Given the description of an element on the screen output the (x, y) to click on. 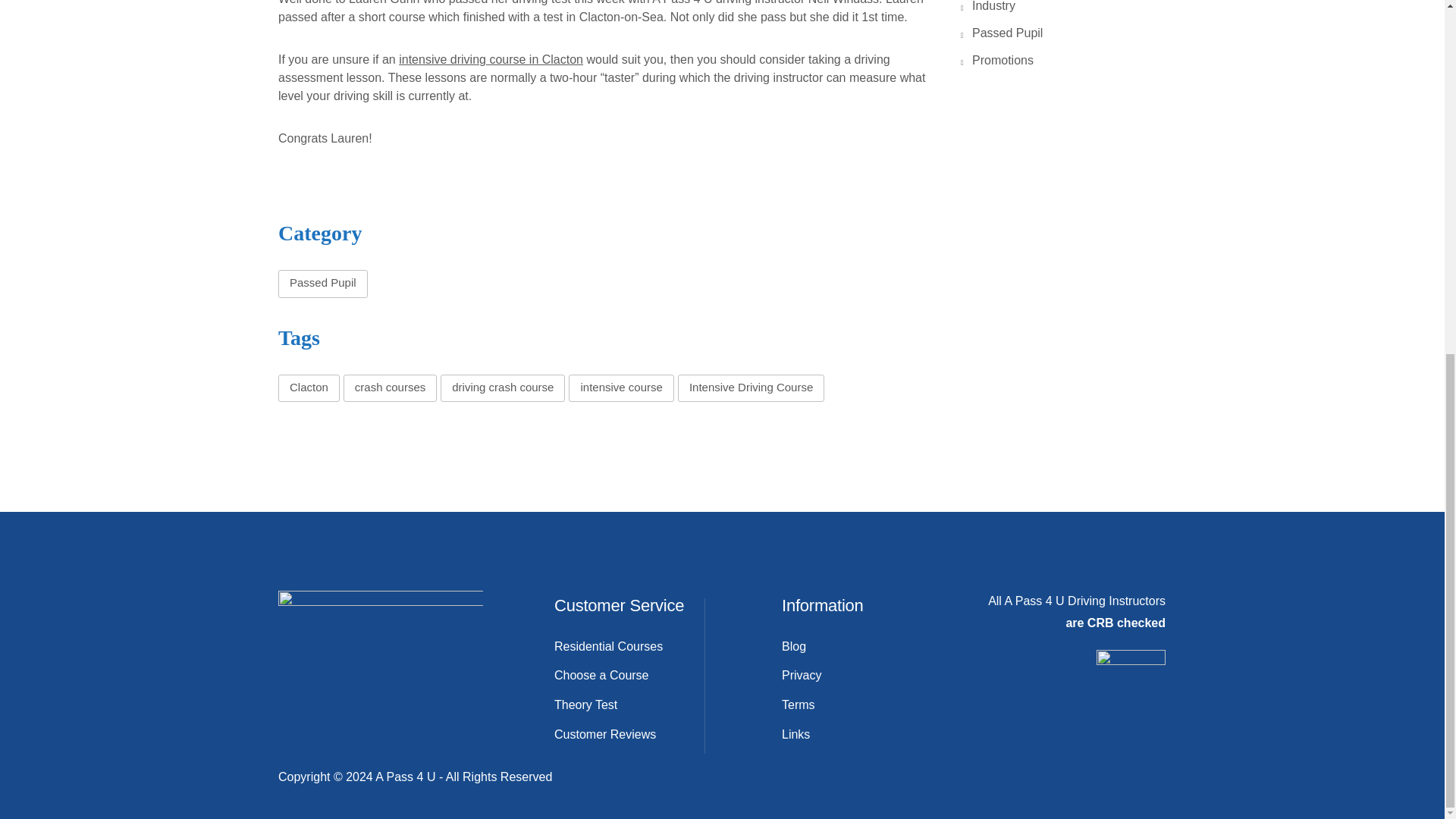
crash courses (389, 388)
Customer Reviews (605, 734)
Intensive Driving Course (751, 388)
Passed Pupil (323, 284)
Privacy (801, 675)
Clacton (308, 388)
driving crash course (502, 388)
Choose a Course (601, 675)
Residential Courses (608, 645)
Links (795, 734)
